Given the description of an element on the screen output the (x, y) to click on. 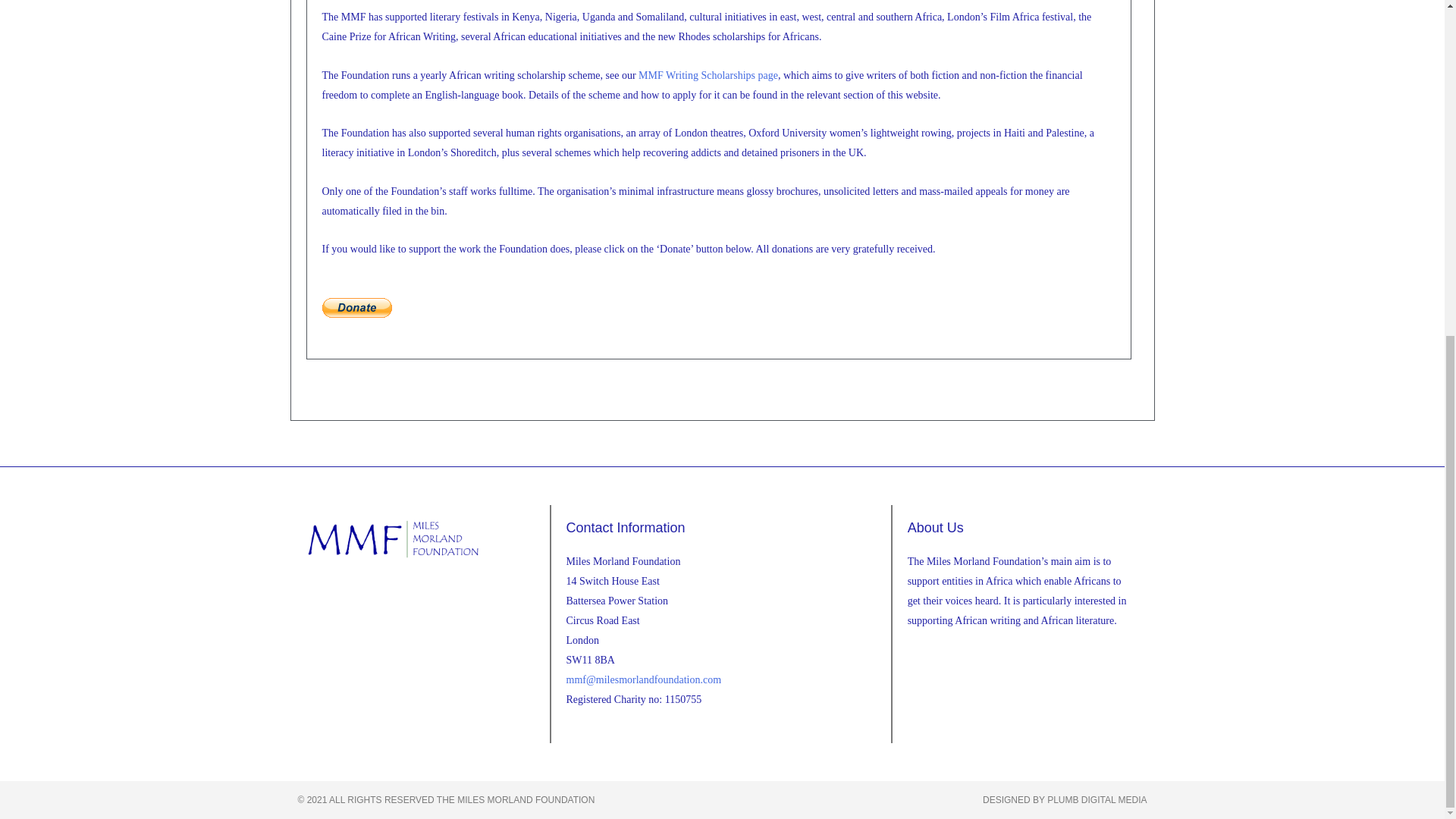
MMF Writing Scholarships page (708, 75)
DESIGNED BY PLUMB DIGITAL MEDIA (1064, 799)
PayPal - The safer, easier way to pay online! (356, 306)
